Given the description of an element on the screen output the (x, y) to click on. 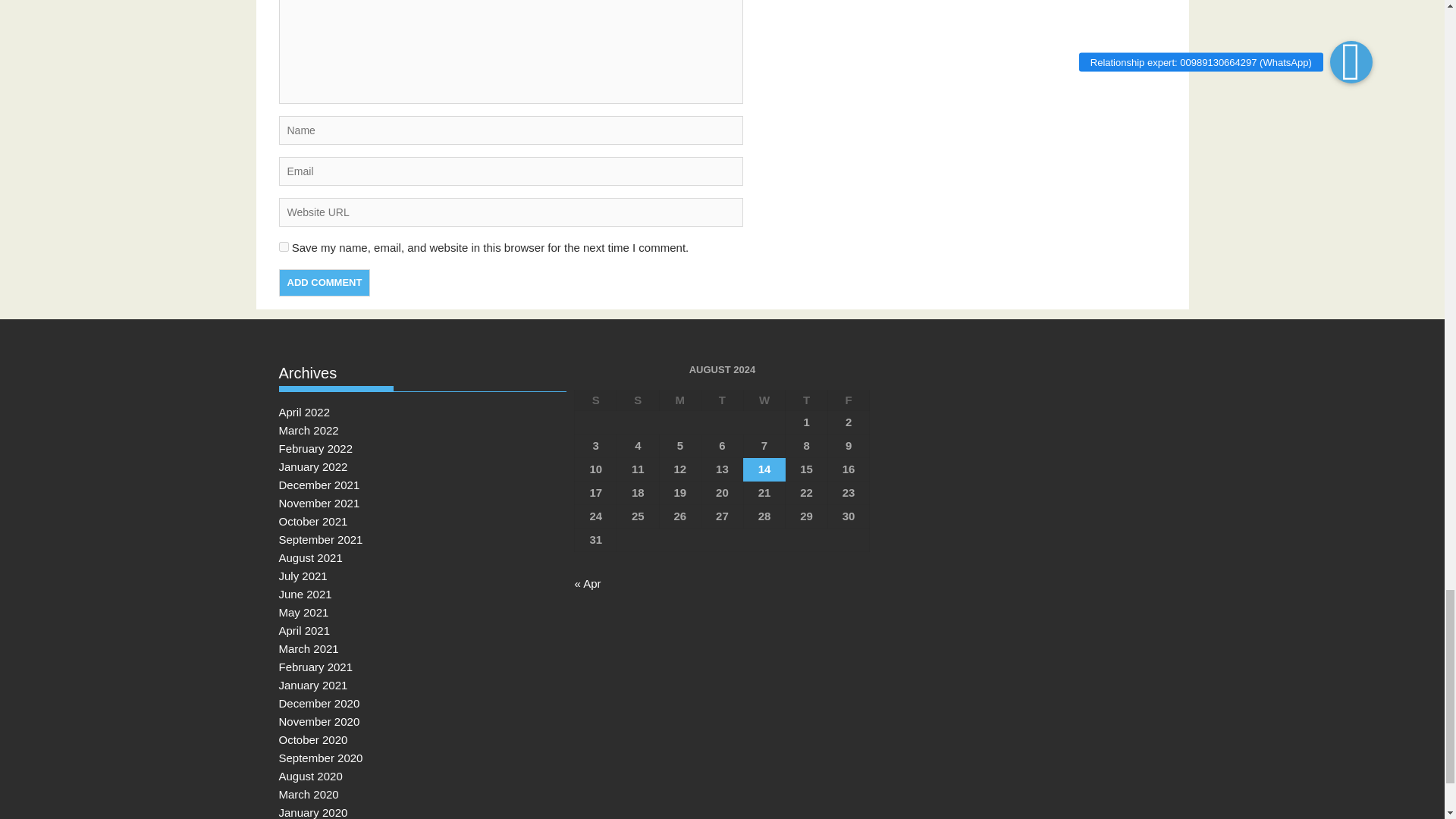
Saturday (596, 400)
yes (283, 246)
Add Comment (325, 282)
Sunday (638, 400)
